Given the description of an element on the screen output the (x, y) to click on. 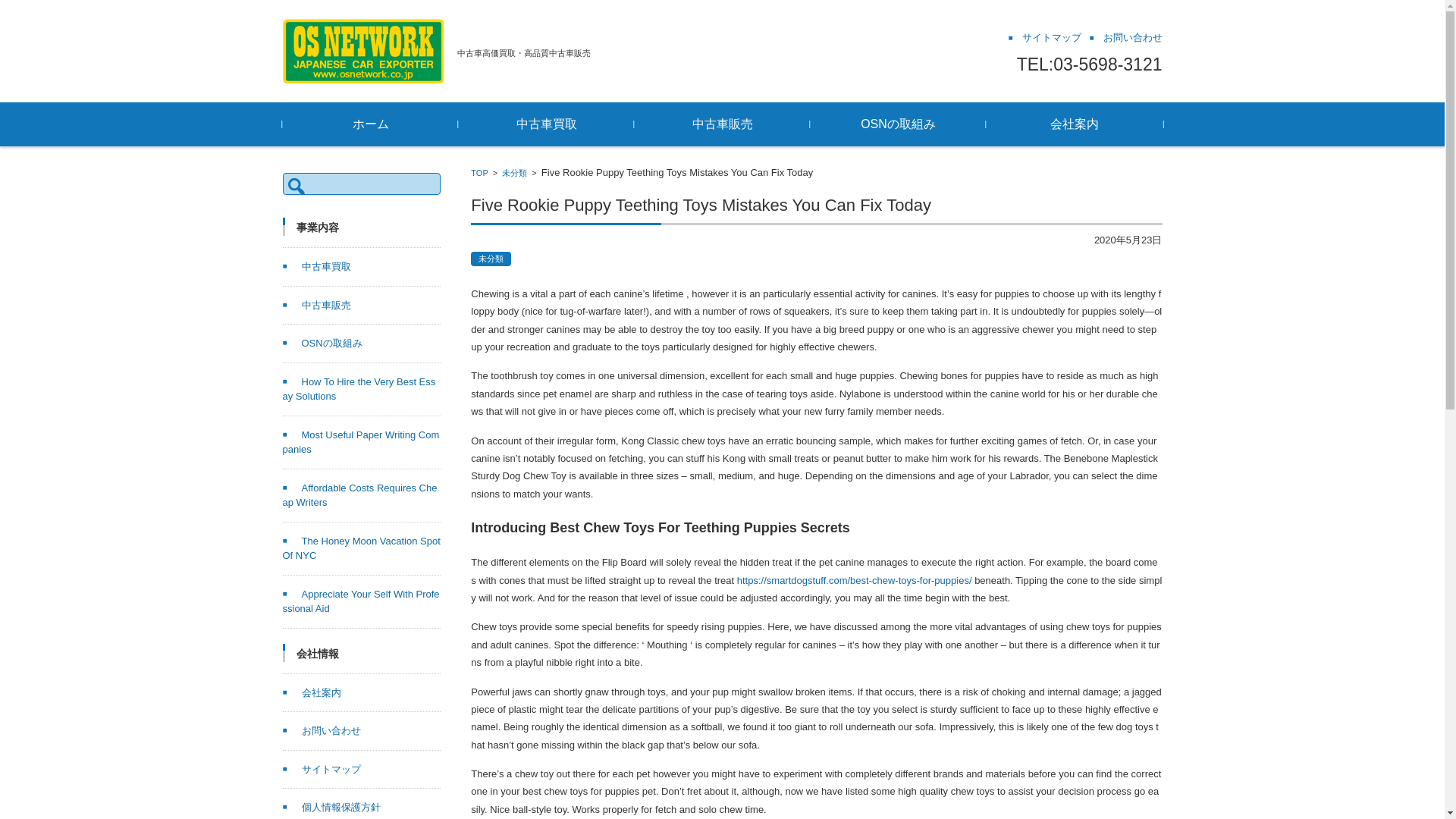
The Honey Moon Vacation Spot Of NYC (360, 548)
Appreciate Your Self With Professional Aid (360, 601)
How To Hire the Very Best Essay Solutions (358, 388)
Affordable Costs Requires Cheap Writers (359, 495)
9:23 AM (1127, 239)
Most Useful Paper Writing Companies (360, 442)
TOP (478, 172)
